Given the description of an element on the screen output the (x, y) to click on. 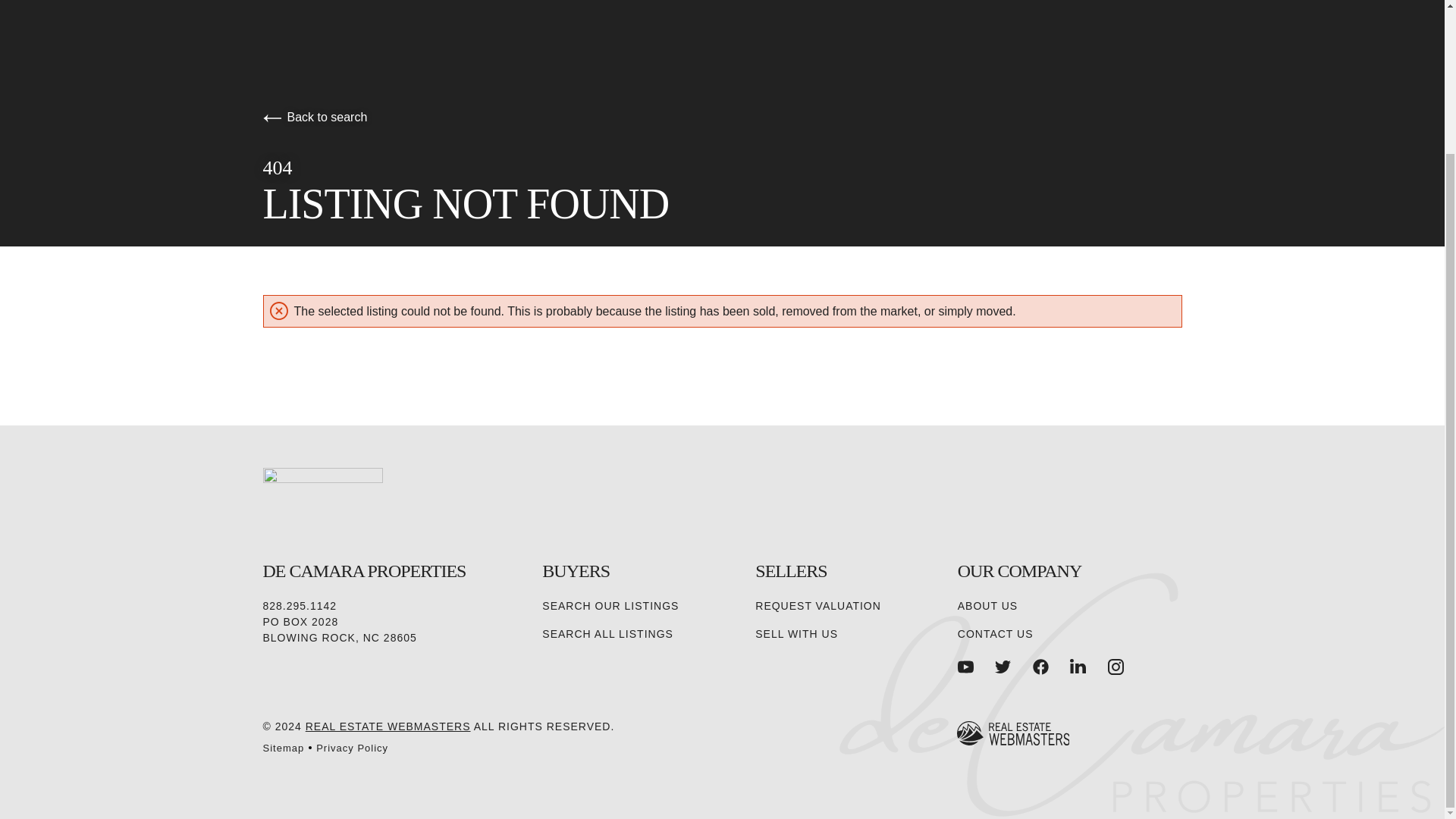
YOUTUBE (966, 666)
REQUEST VALUATION (817, 606)
LINKEDIN (1078, 666)
LINKEDIN (1078, 666)
Back to search (314, 116)
FACEBOOK (1040, 666)
TWITTER (1002, 666)
FACEBOOK (1040, 666)
SEARCH OUR LISTINGS (609, 606)
ABOUT US (987, 606)
CONTACT US (995, 634)
TWITTER (1002, 666)
SEARCH ALL LISTINGS (606, 634)
SELL WITH US (796, 634)
YOUTUBE (966, 666)
